Given the description of an element on the screen output the (x, y) to click on. 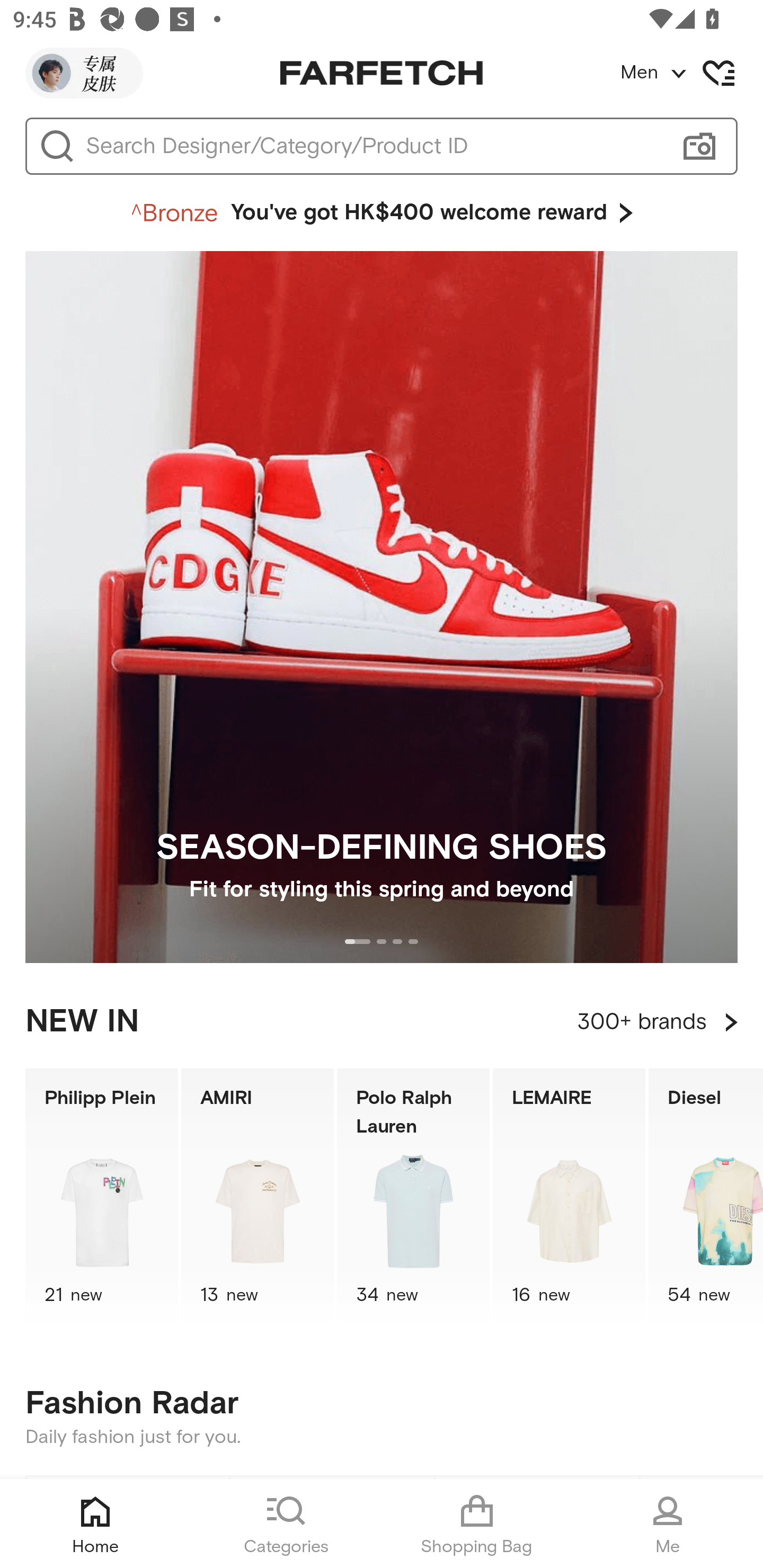
Men (691, 72)
Search Designer/Category/Product ID (373, 146)
You've got HK$400 welcome reward (381, 213)
NEW IN 300+ brands (381, 1021)
Philipp Plein 21  new (101, 1196)
AMIRI 13  new (257, 1196)
Polo Ralph Lauren 34  new (413, 1196)
LEMAIRE 16  new (568, 1196)
Diesel 54  new (705, 1196)
Categories (285, 1523)
Shopping Bag (476, 1523)
Me (667, 1523)
